Given the description of an element on the screen output the (x, y) to click on. 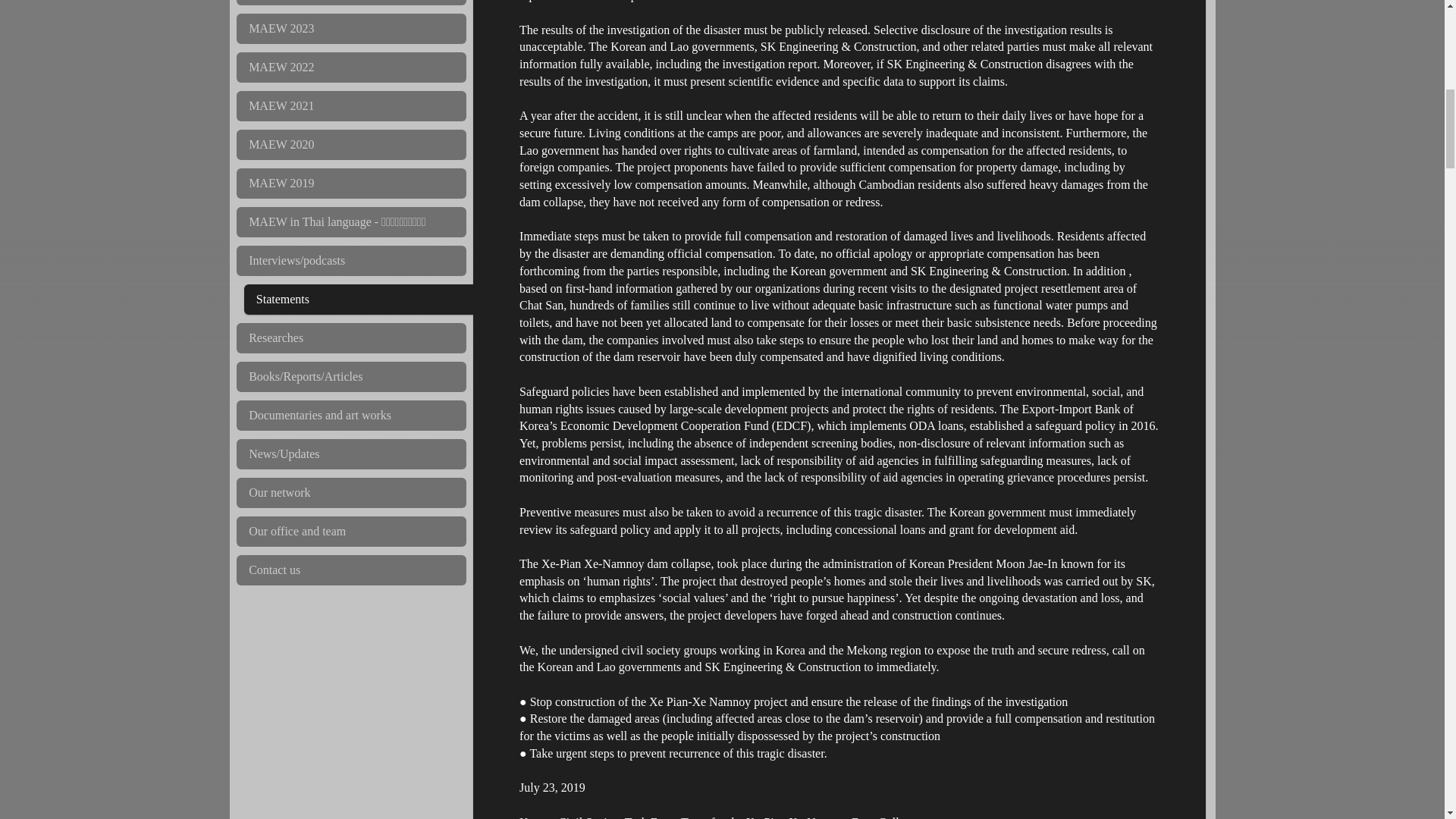
Researches (350, 337)
Our office and team (350, 531)
MAEW 2020 (350, 144)
MAEW 2021 (350, 105)
Contact us (350, 570)
In action (350, 2)
MAEW 2023 (350, 28)
MAEW 2019 (350, 183)
MAEW 2022 (350, 67)
Statements (359, 299)
Our network (350, 492)
Documentaries and art works  (350, 415)
